Given the description of an element on the screen output the (x, y) to click on. 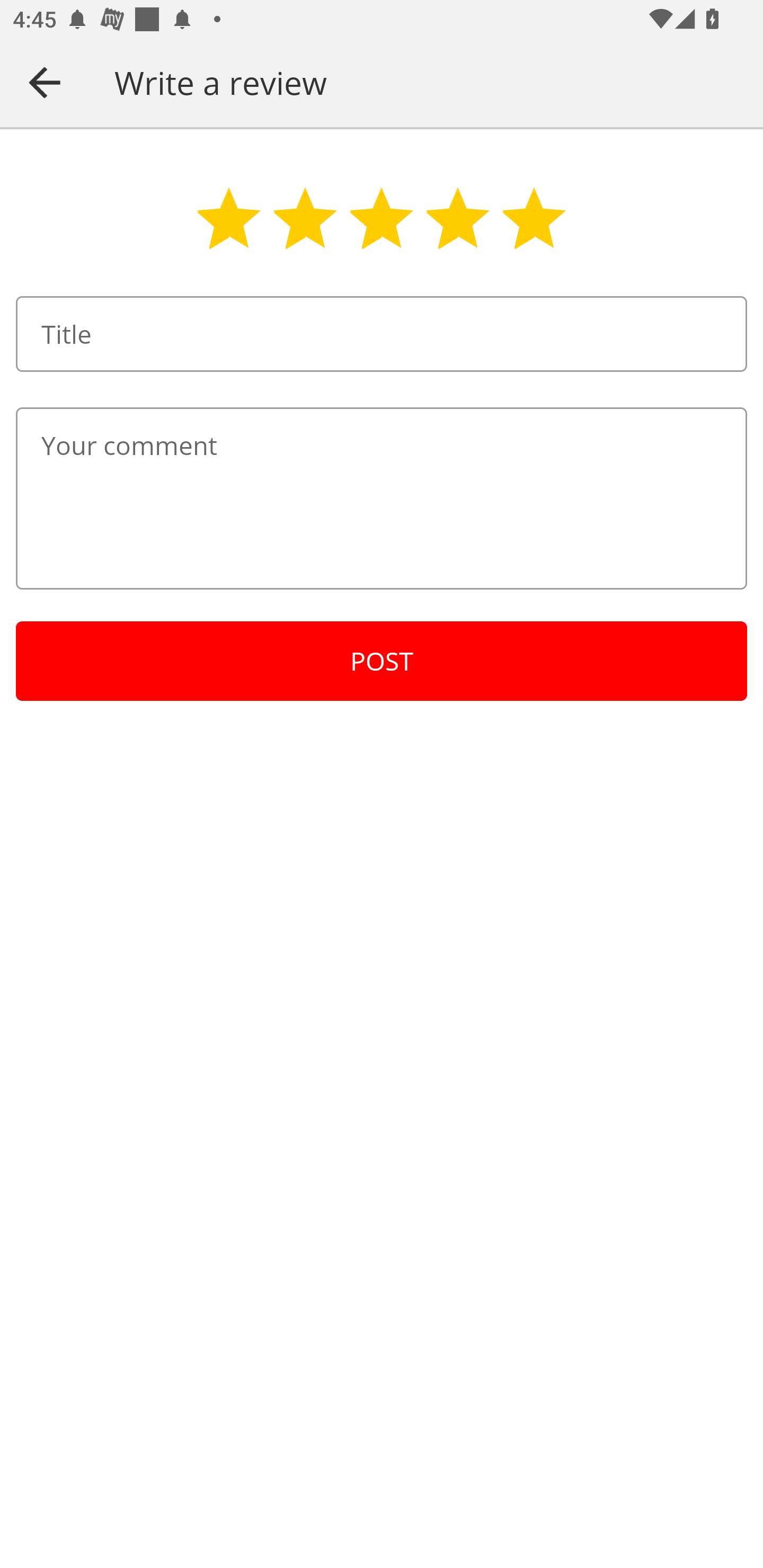
Navigate up (44, 82)
Title (381, 333)
Your comment (381, 498)
POST (381, 660)
